Given the description of an element on the screen output the (x, y) to click on. 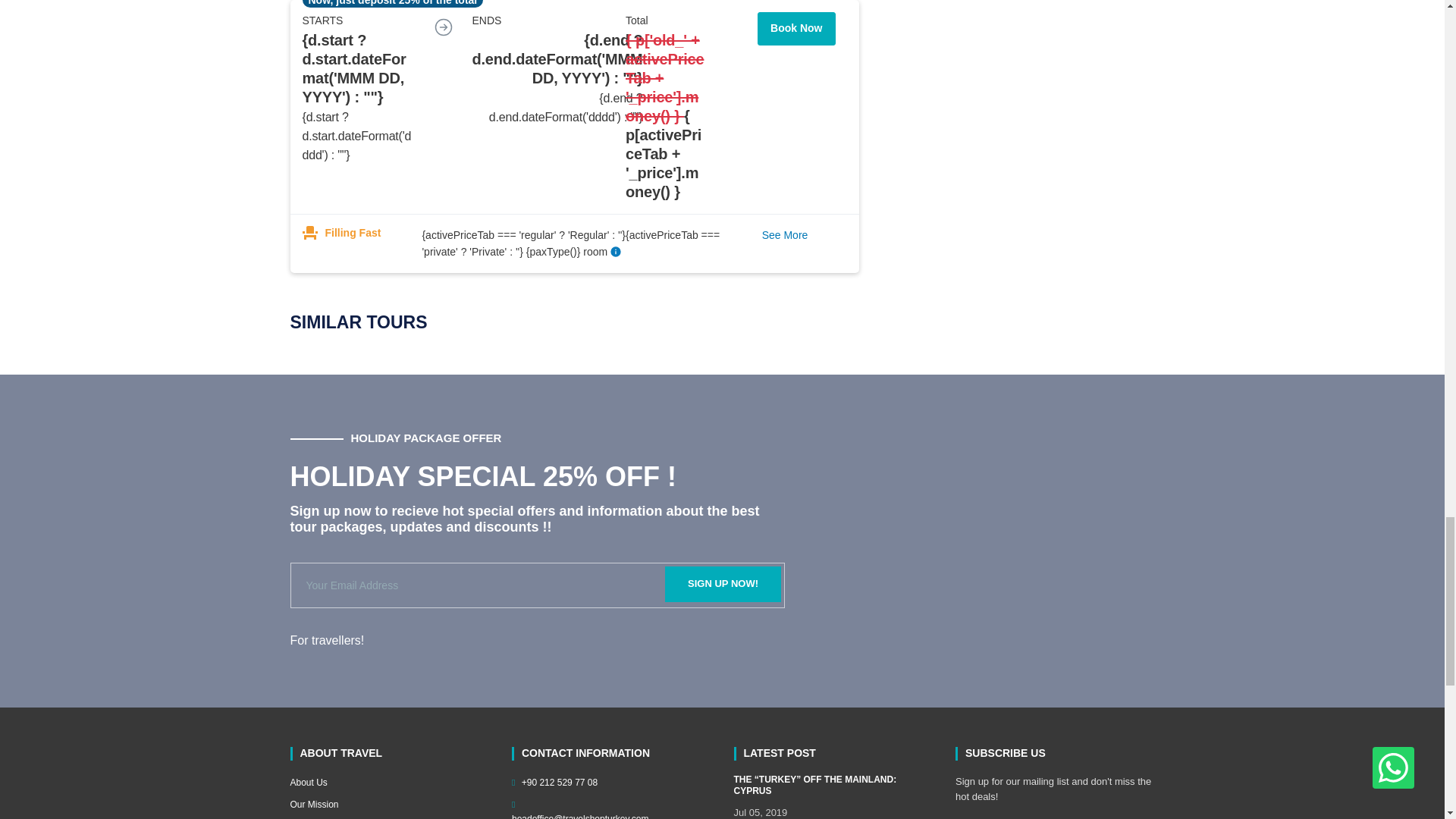
See More (784, 234)
Our Mission (389, 804)
SIGN UP NOW! (722, 583)
SIGN UP NOW! (722, 583)
About Us (389, 782)
